Given the description of an element on the screen output the (x, y) to click on. 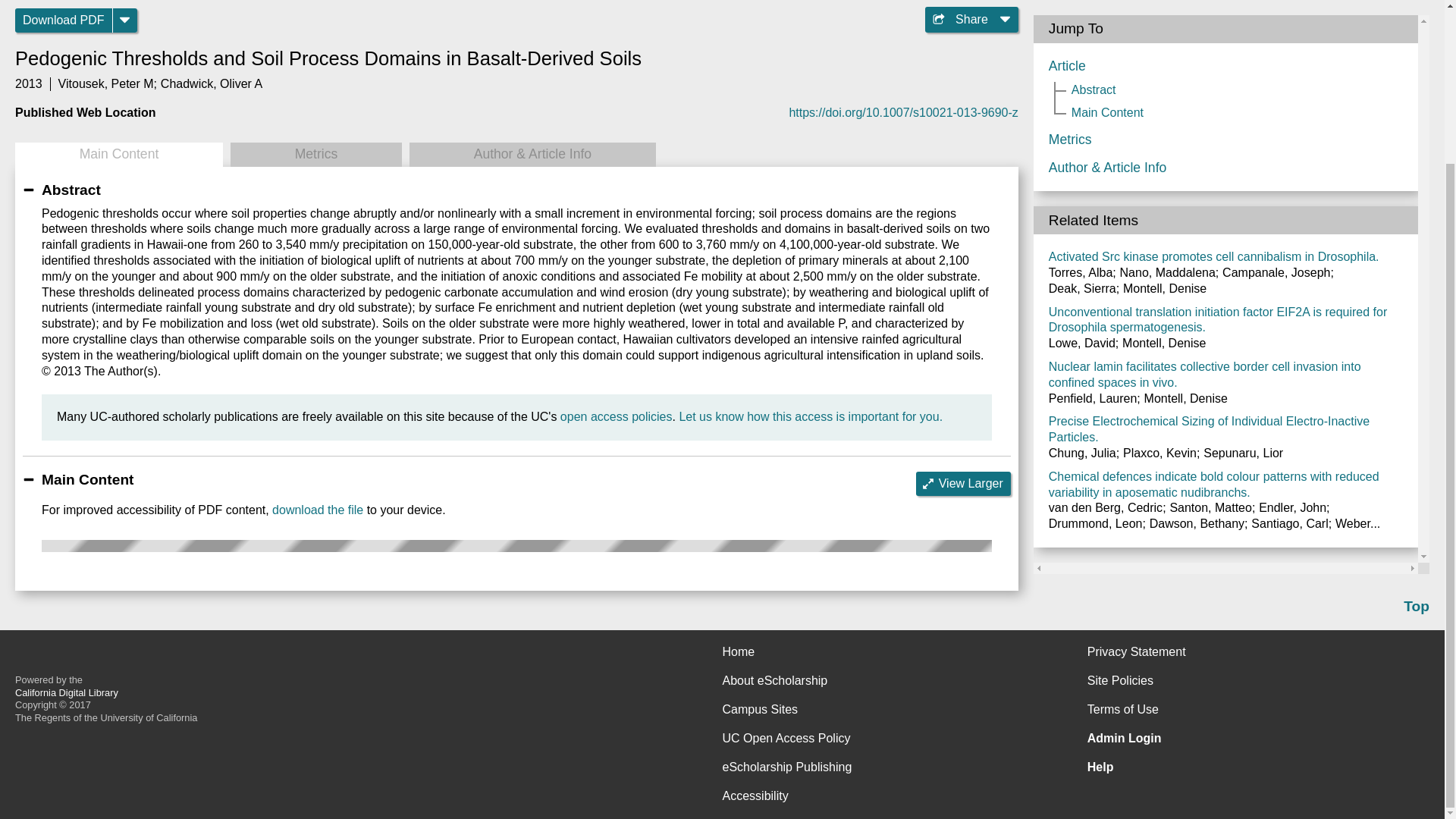
Let us know how this access is important for you. (810, 416)
View Larger (962, 483)
Main Content (118, 154)
Vitousek, Peter M (106, 83)
Chadwick, Oliver A (211, 83)
Download PDF (63, 20)
Metrics (315, 154)
download the file (317, 509)
open access policies (616, 416)
